Given the description of an element on the screen output the (x, y) to click on. 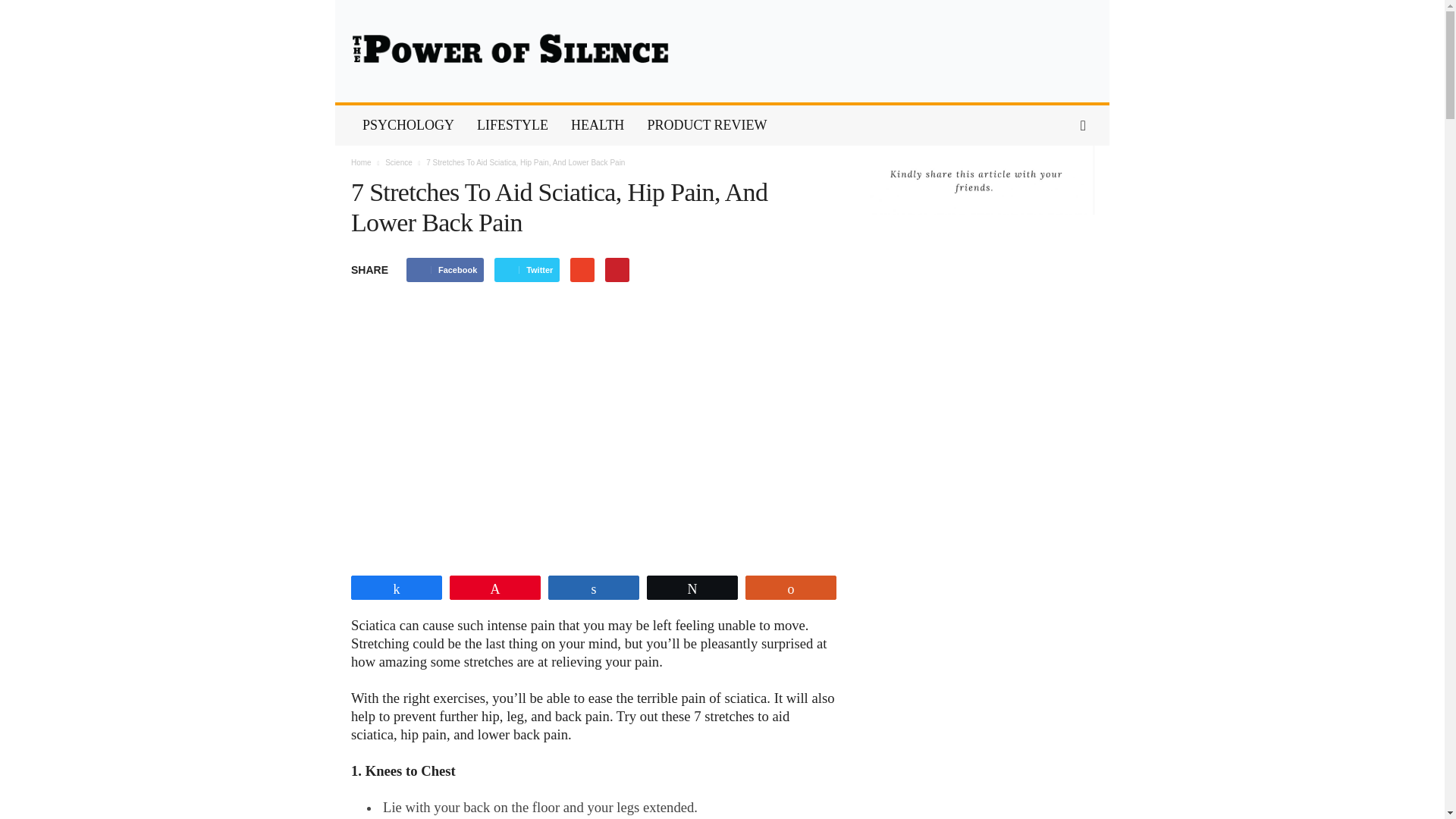
View all posts in Science (399, 162)
Science (399, 162)
The Power Of Silence (721, 51)
Twitter (527, 269)
LIFESTYLE (512, 125)
Home (360, 162)
HEALTH (596, 125)
Facebook (444, 269)
PRODUCT REVIEW (705, 125)
PSYCHOLOGY (407, 125)
